Given the description of an element on the screen output the (x, y) to click on. 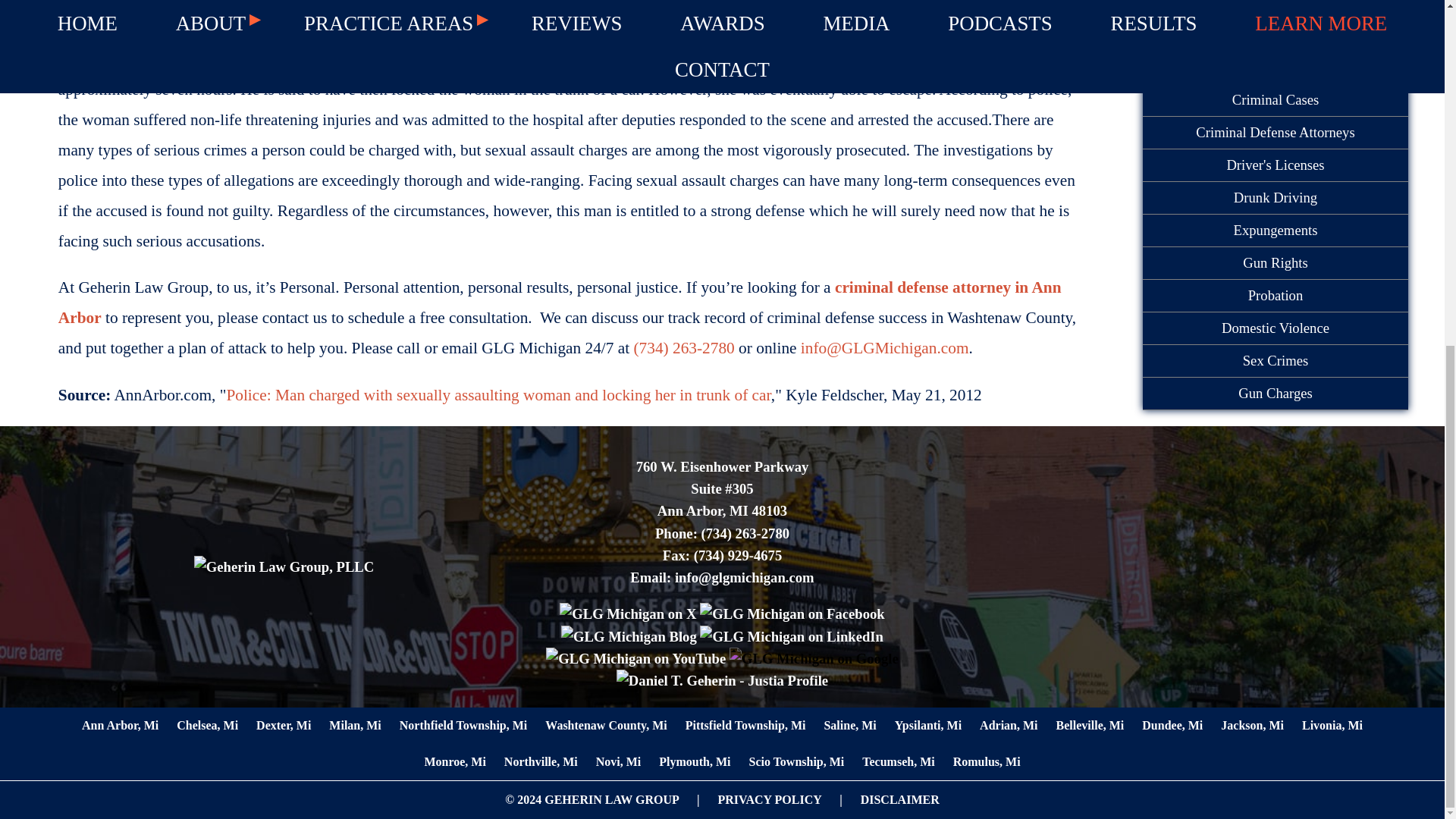
Map of GLG Michigan (1160, 563)
